Given the description of an element on the screen output the (x, y) to click on. 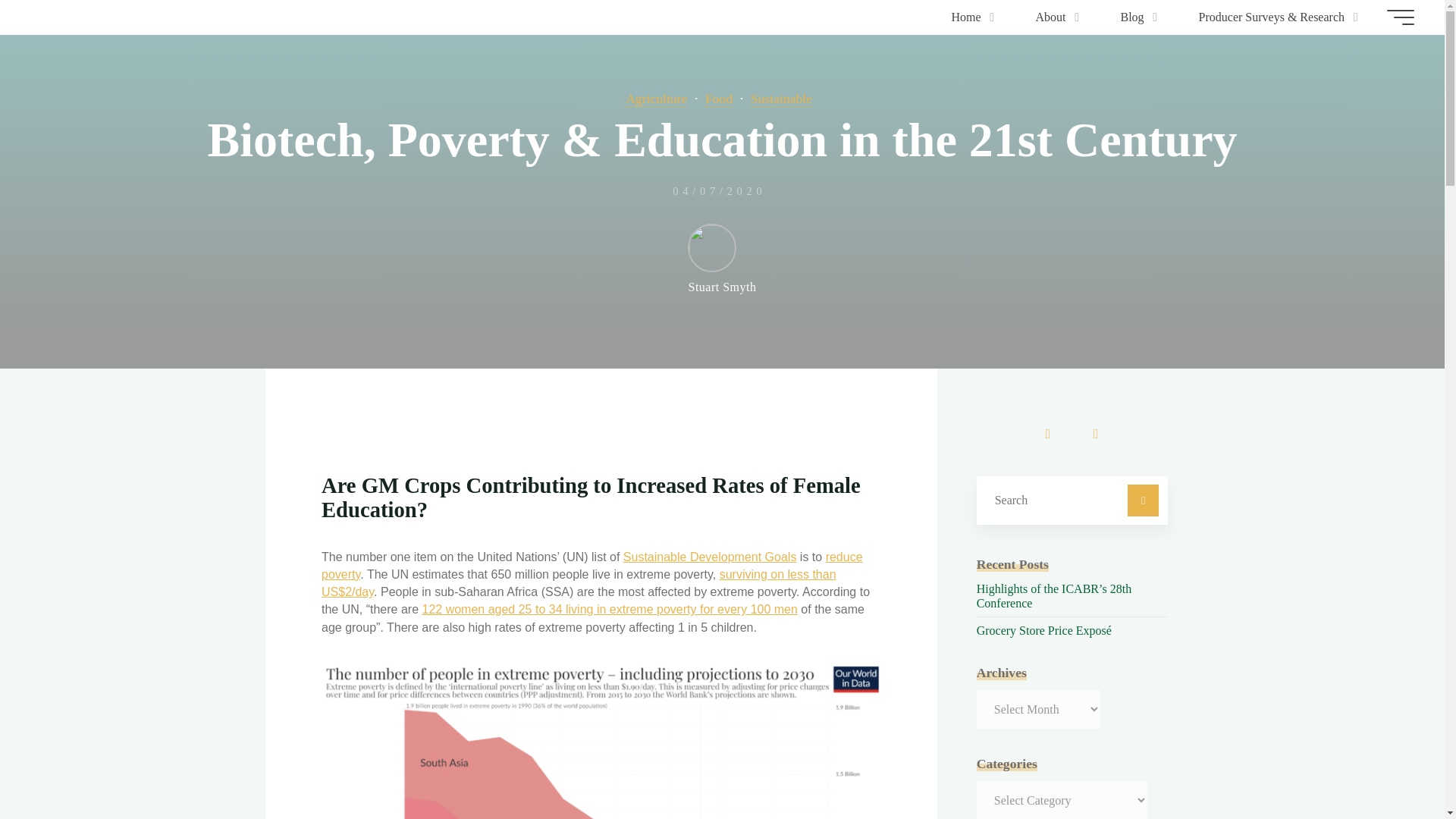
View all posts by Stuart Smyth (721, 258)
Home (968, 17)
Read more (721, 271)
About (1053, 17)
Blog (1134, 17)
